Given the description of an element on the screen output the (x, y) to click on. 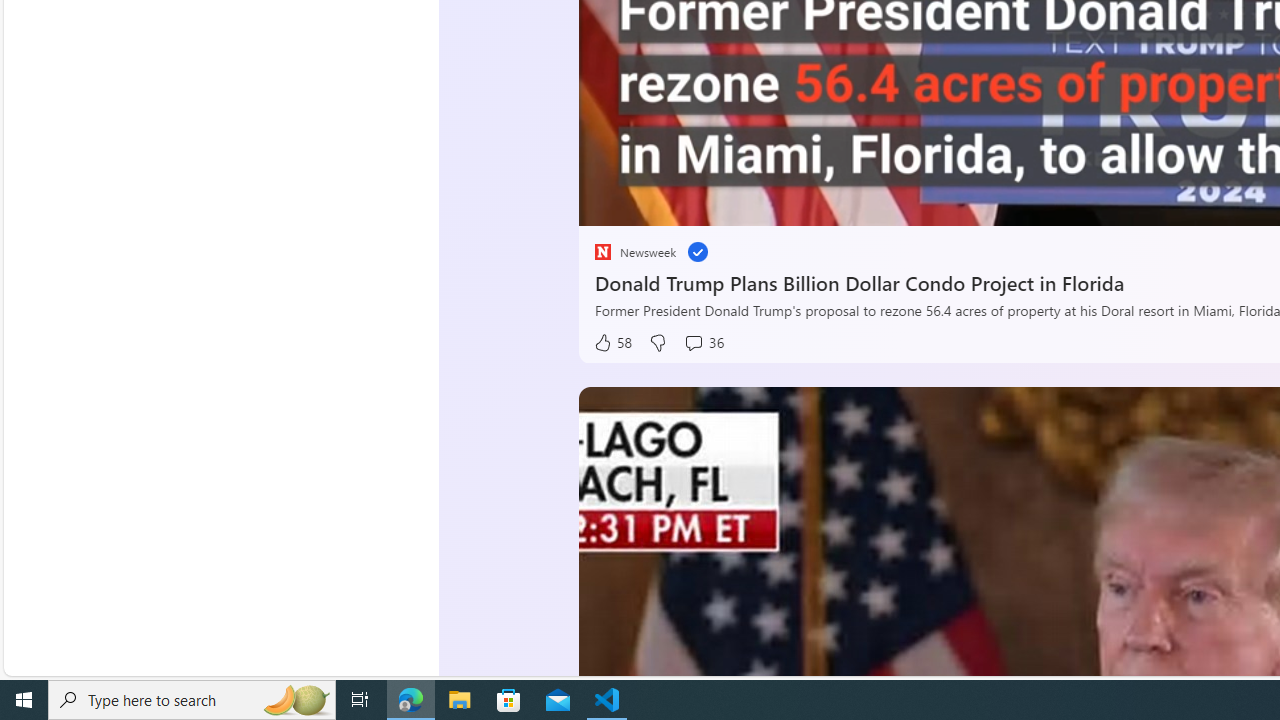
View comments 36 Comment (703, 343)
Seek Back (648, 203)
58 Like (611, 343)
Seek Forward (688, 203)
Pause (607, 203)
placeholder Newsweek (634, 252)
placeholder (601, 252)
